Given the description of an element on the screen output the (x, y) to click on. 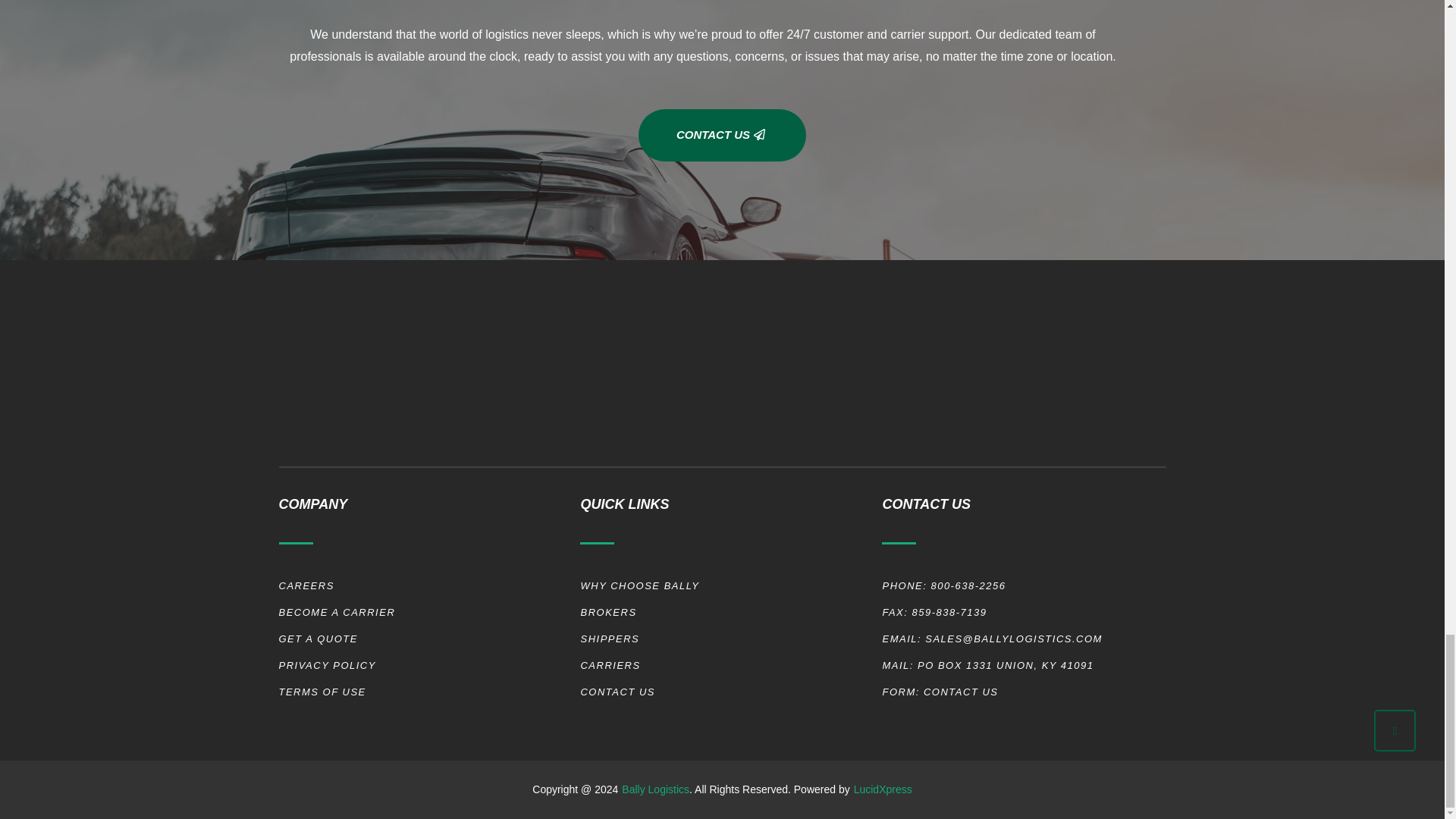
PRIVACY POLICY (427, 665)
CONTACT US (722, 134)
GET A QUOTE (427, 638)
CAREERS (427, 585)
BECOME A CARRIER (427, 612)
TERMS OF USE (427, 691)
